Given the description of an element on the screen output the (x, y) to click on. 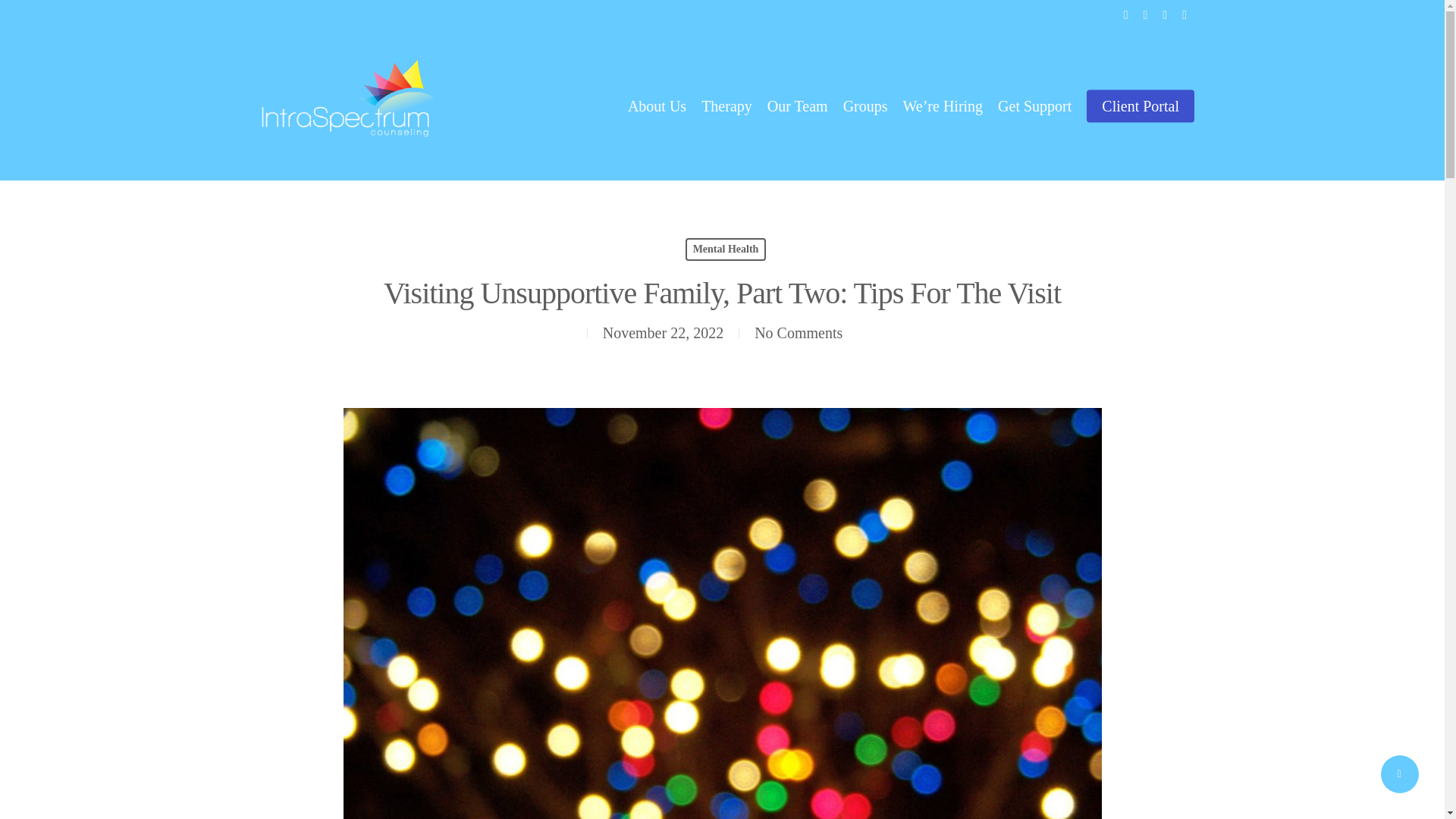
Our Team (797, 106)
About Us (657, 106)
Therapy (727, 106)
Groups (865, 106)
Get Support (1034, 106)
